Given the description of an element on the screen output the (x, y) to click on. 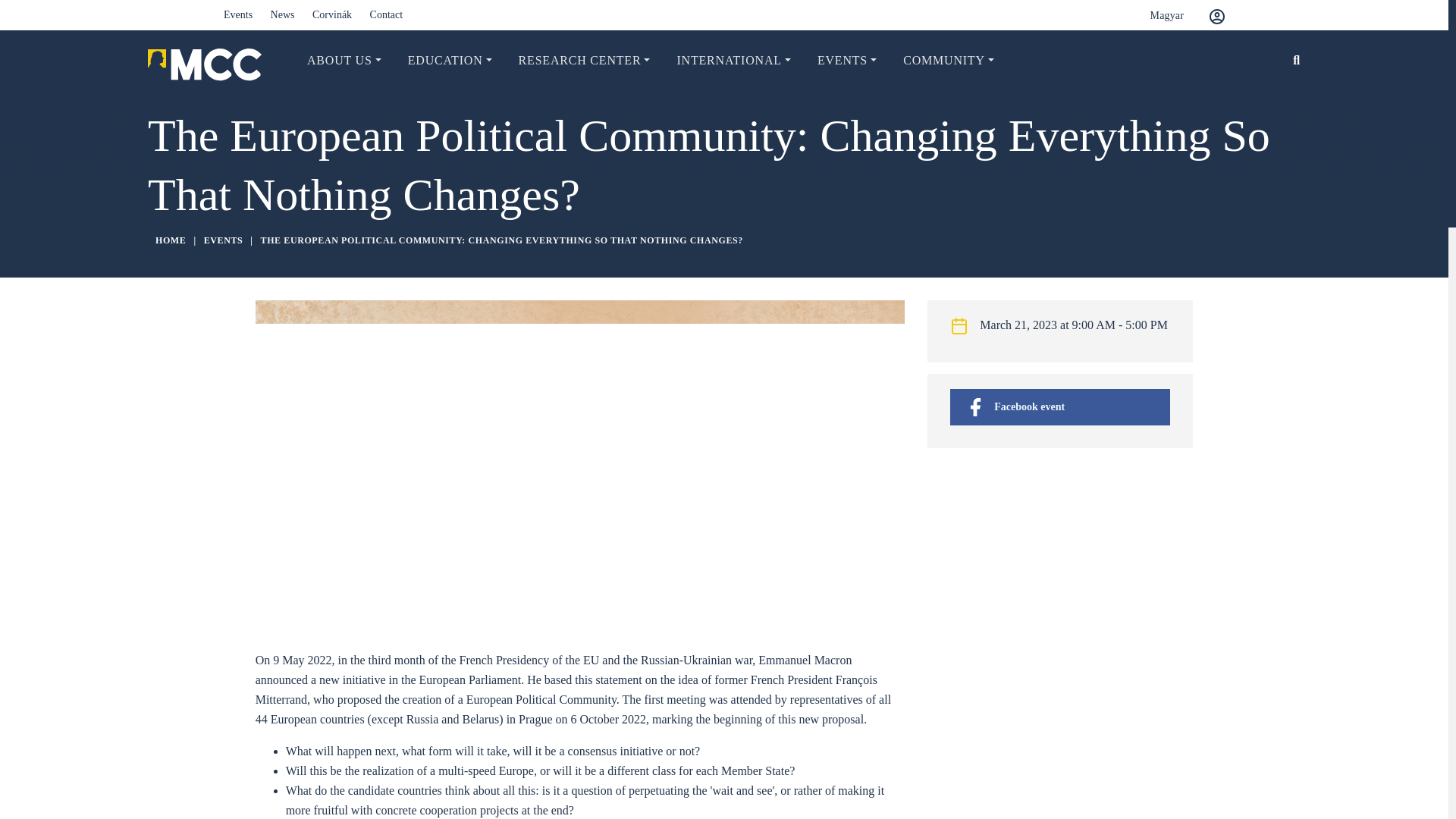
Magyar (1154, 15)
Contact (386, 14)
News (282, 14)
Events (237, 14)
